Given the description of an element on the screen output the (x, y) to click on. 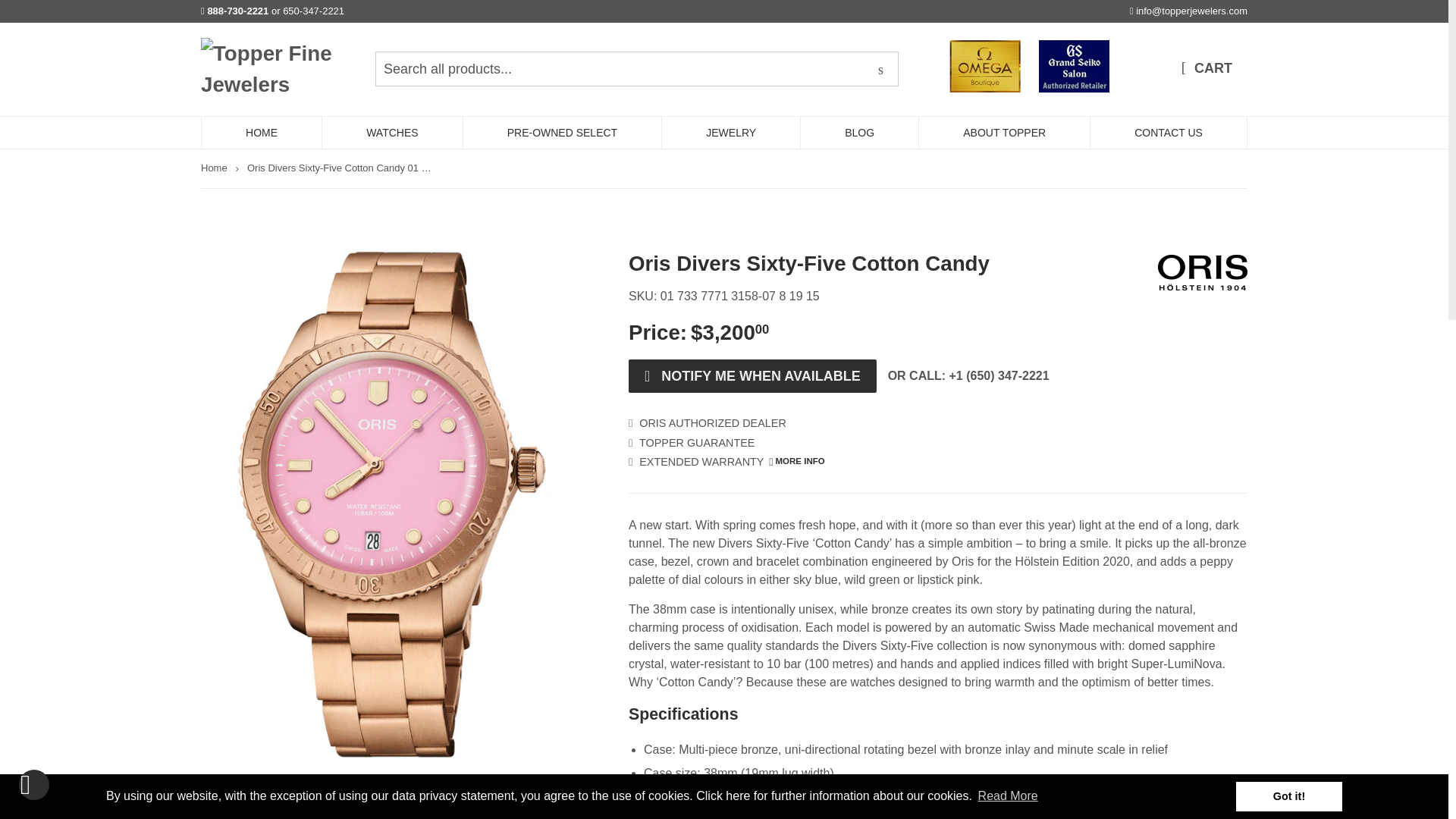
Pre-Owned Select (562, 132)
Read More (1008, 795)
Jewelry (730, 132)
Blog (859, 132)
Got it! (1289, 796)
CART (1206, 68)
Home (261, 132)
Search (880, 69)
About Topper (1003, 132)
Contact Us (1168, 132)
Watches (392, 132)
